Given the description of an element on the screen output the (x, y) to click on. 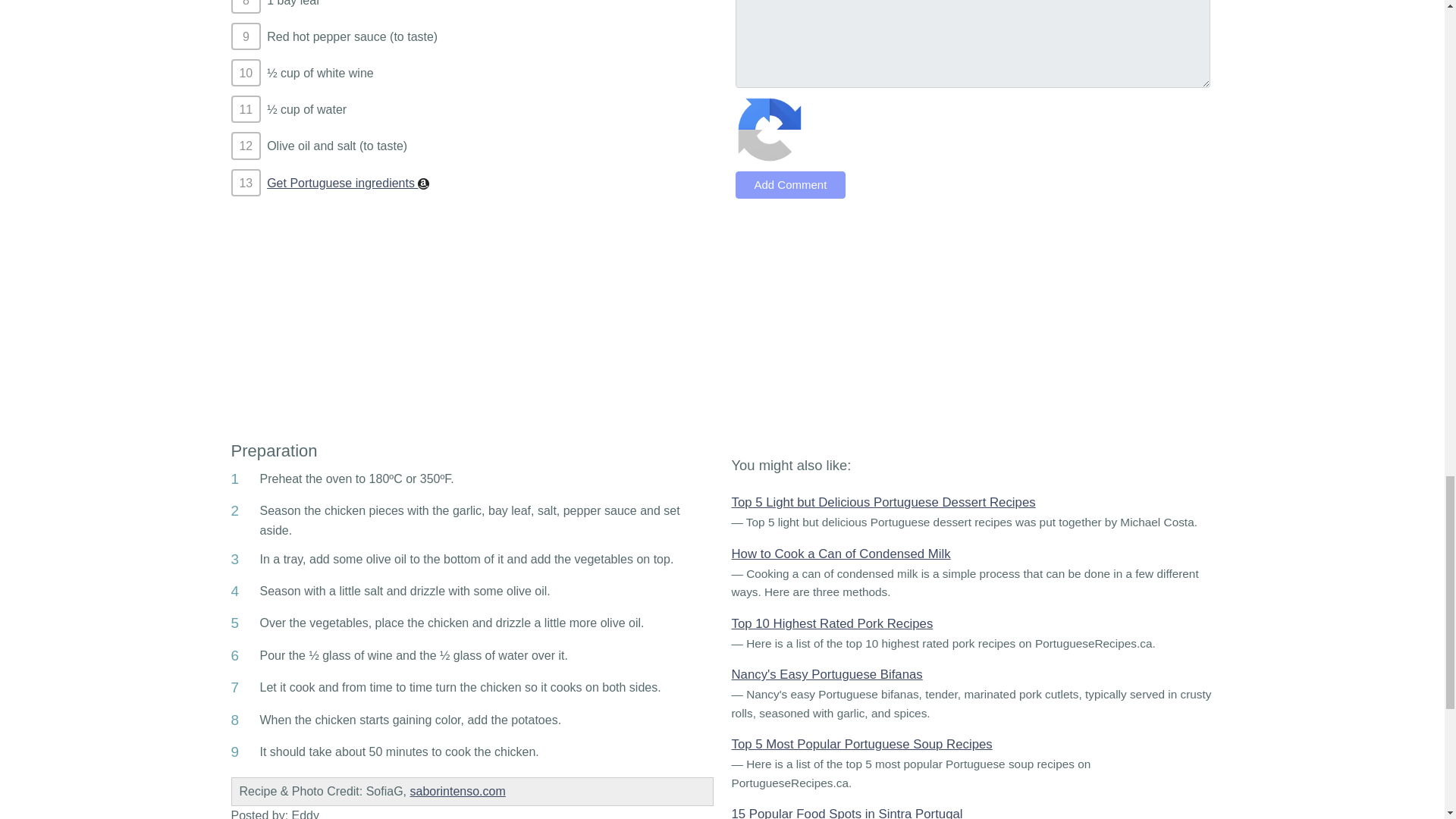
Add Comment (790, 185)
saborintenso.com (457, 790)
How to Cook a Can of Condensed Milk (840, 554)
Top 10 Highest Rated Pork Recipes (831, 623)
Nancy's Easy Portuguese Bifanas (825, 674)
Top 5 Light but Delicious Portuguese Dessert Recipes (882, 502)
15 Popular Food Spots in Sintra Portugal (846, 812)
Top 5 Most Popular Portuguese Soup Recipes (860, 744)
Get Portuguese ingredients (347, 182)
Add Comment (790, 185)
